Given the description of an element on the screen output the (x, y) to click on. 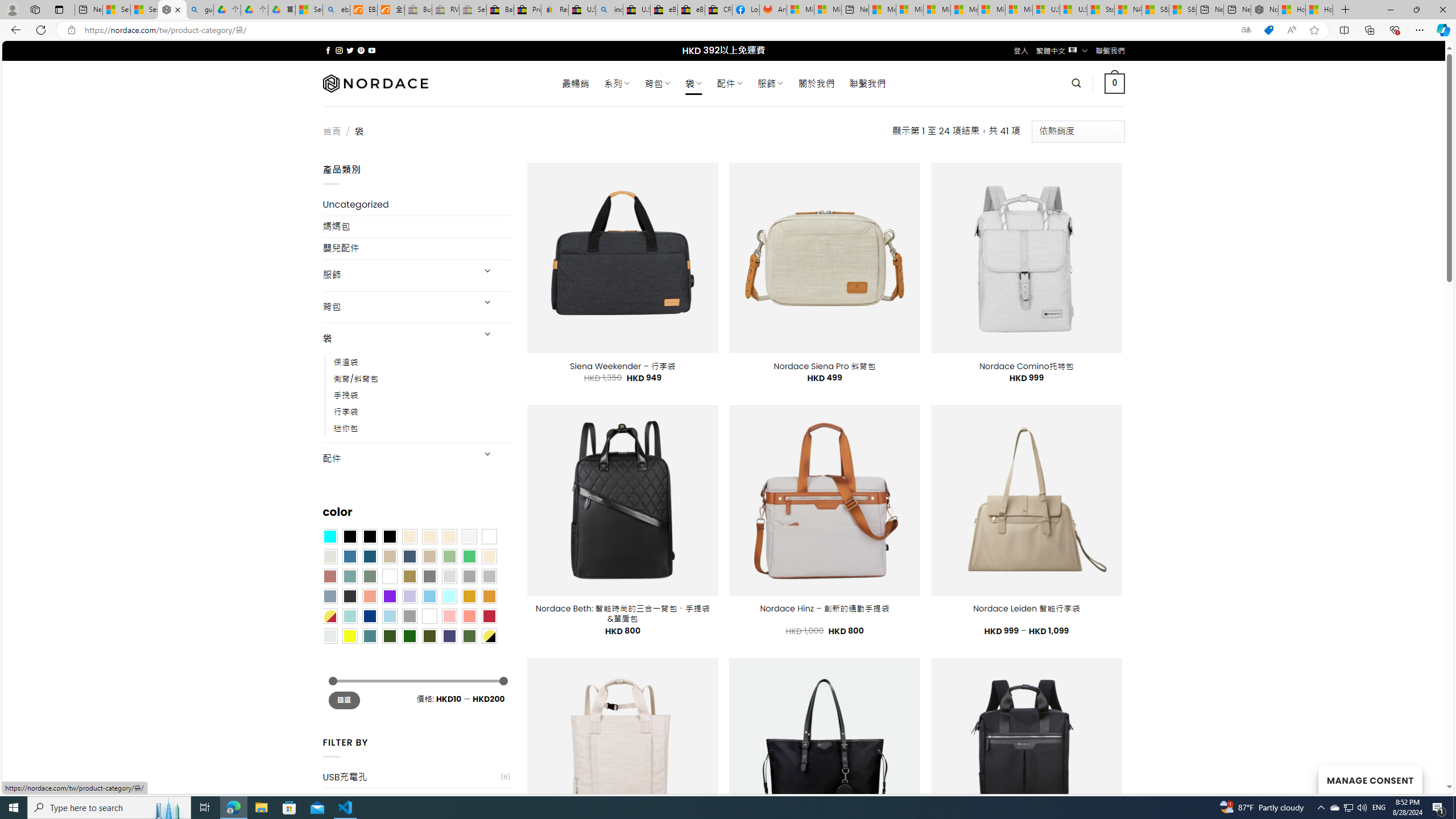
Microsoft account | Privacy (909, 9)
Follow on YouTube (371, 50)
Cream (449, 536)
Log into Facebook (746, 9)
This site has coupons! Shopping in Microsoft Edge (1268, 29)
